Given the description of an element on the screen output the (x, y) to click on. 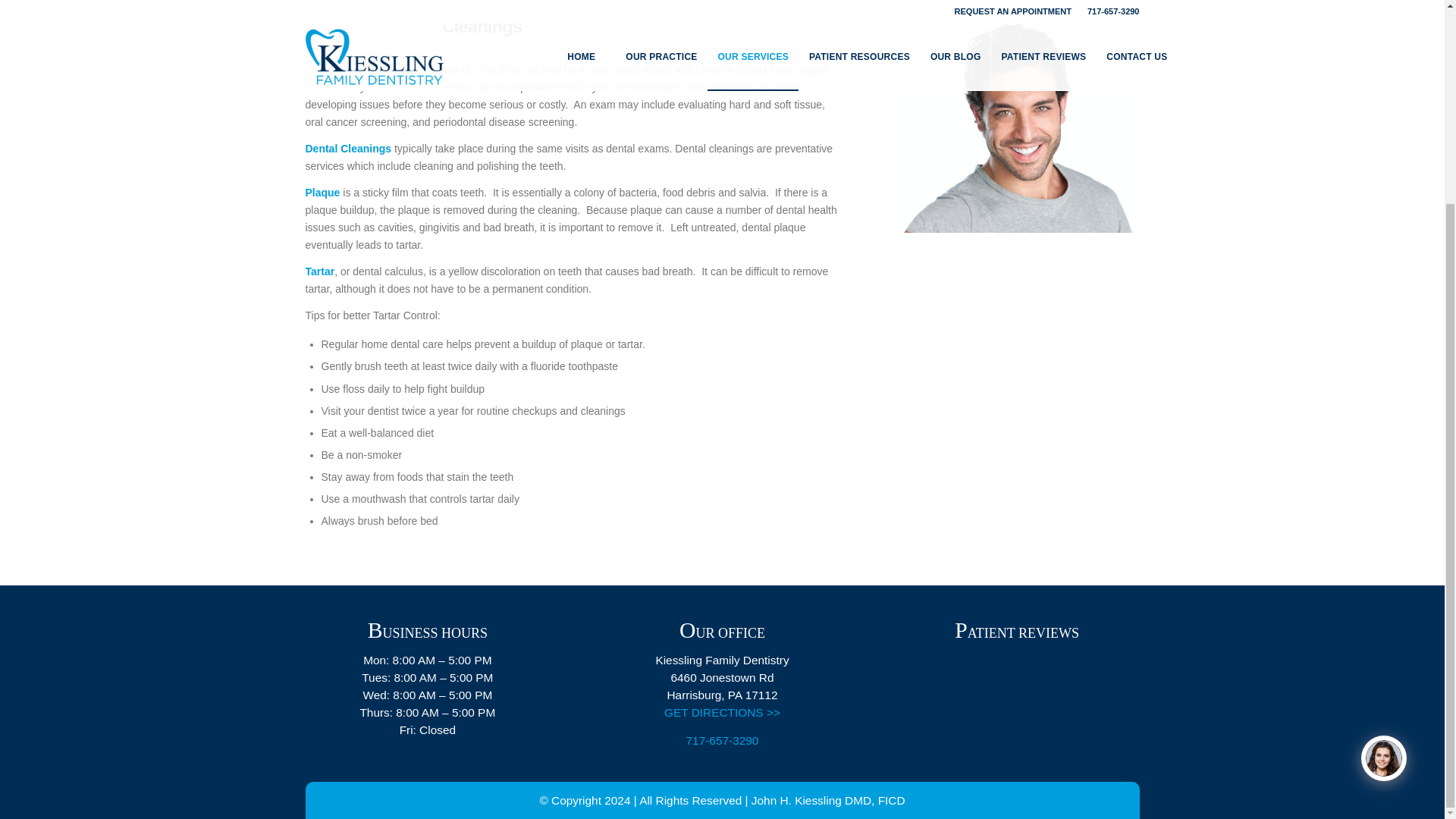
Chat with us! (1383, 507)
Man Smiling with Clean Healthy Teeth (1017, 124)
